Given the description of an element on the screen output the (x, y) to click on. 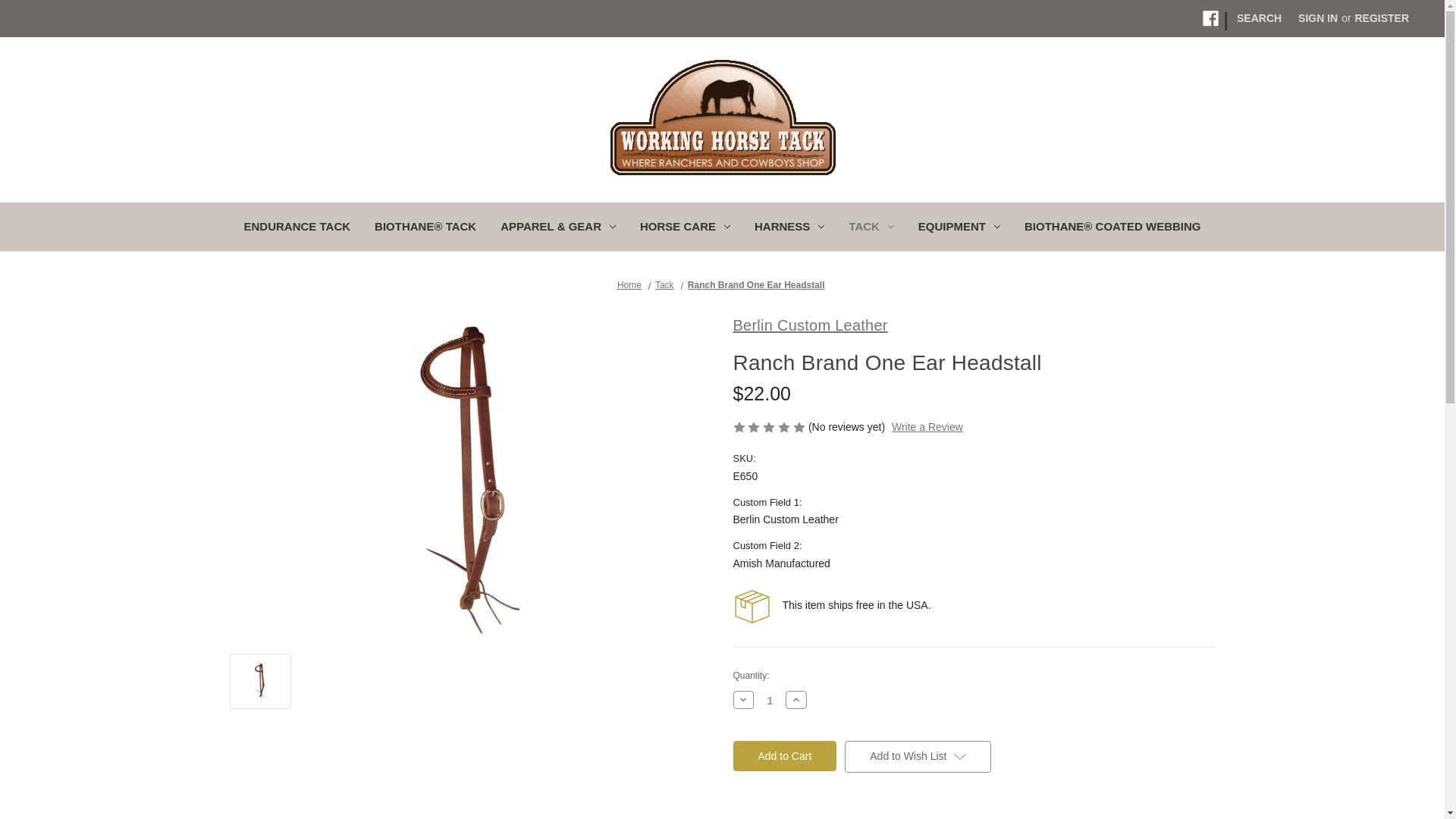
Add to Cart (783, 756)
This item ships free in the USA. (751, 606)
1 (770, 698)
ENDURANCE TACK (296, 228)
TACK (870, 228)
Working Horse Tack (722, 117)
SIGN IN (1317, 18)
SEARCH (1259, 18)
HARNESS (788, 228)
REGISTER (1380, 18)
